Given the description of an element on the screen output the (x, y) to click on. 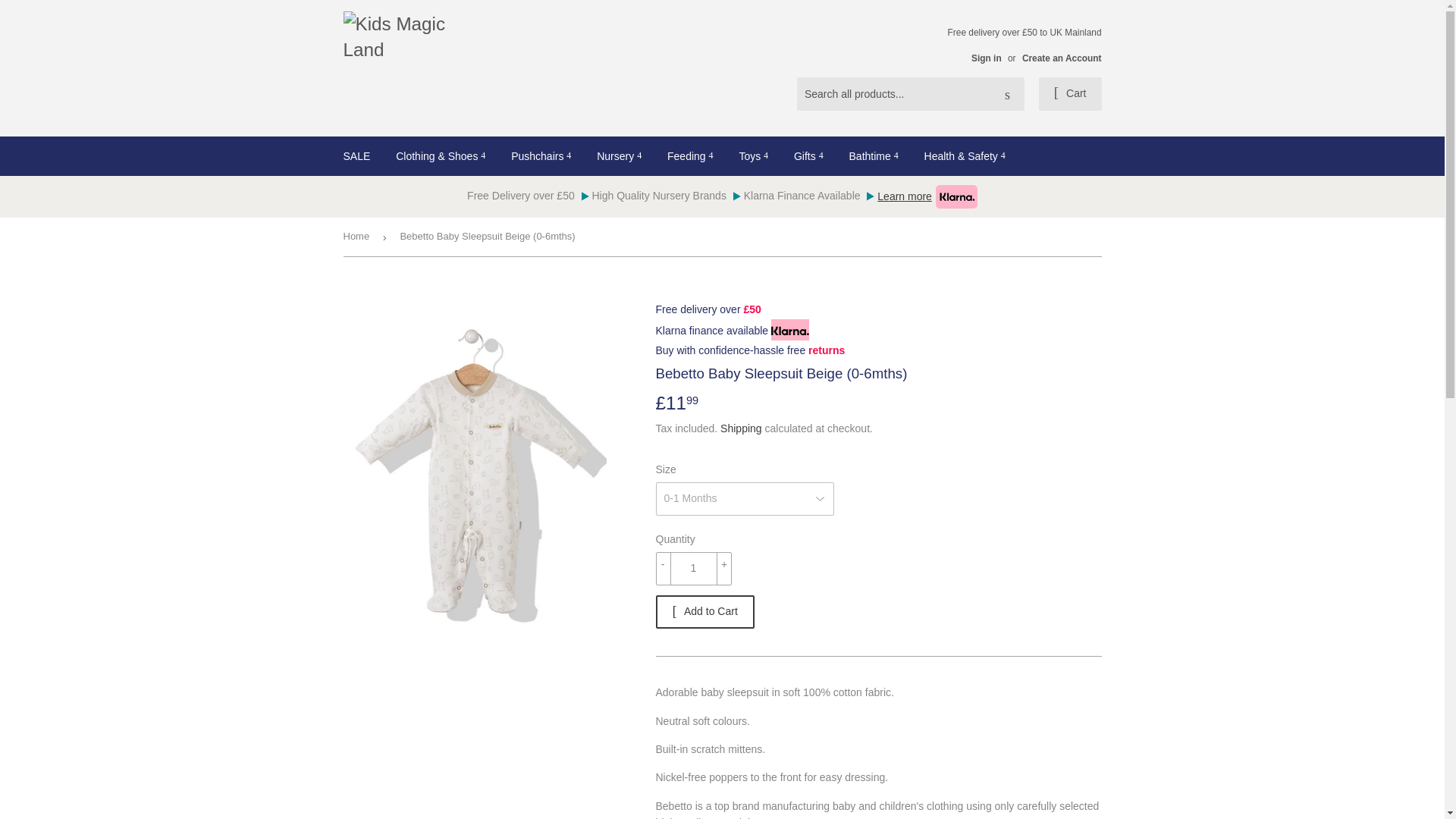
Cart (1070, 93)
Sign in (986, 58)
Search (1007, 94)
1 (692, 568)
Create an Account (1062, 58)
